Given the description of an element on the screen output the (x, y) to click on. 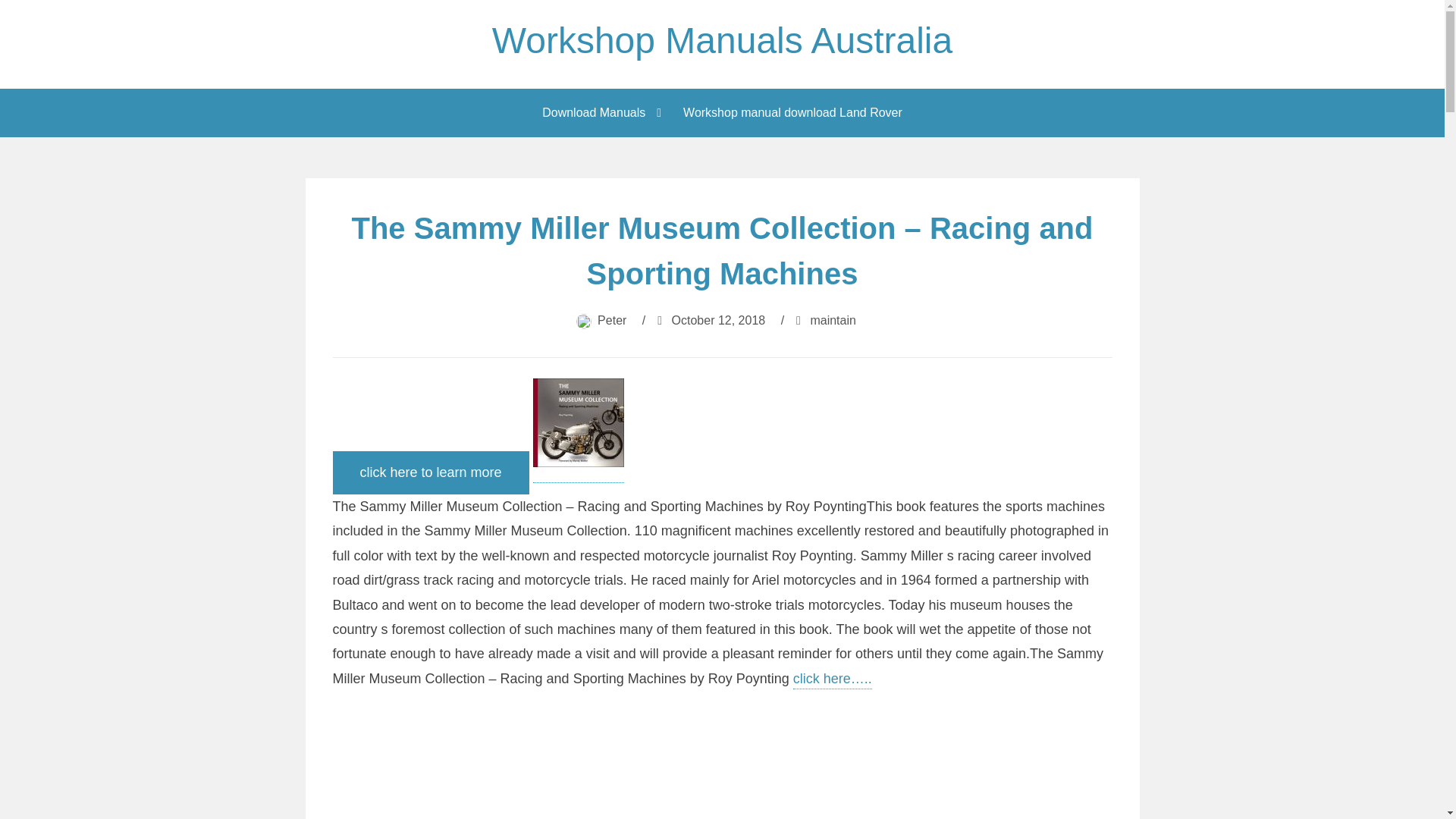
Workshop Manuals Australia (722, 40)
October 12, 2018 (718, 319)
Download Manuals (597, 112)
Peter (611, 319)
Workshop manual download Land Rover (792, 112)
click here to learn more (429, 472)
maintain (832, 319)
